Given the description of an element on the screen output the (x, y) to click on. 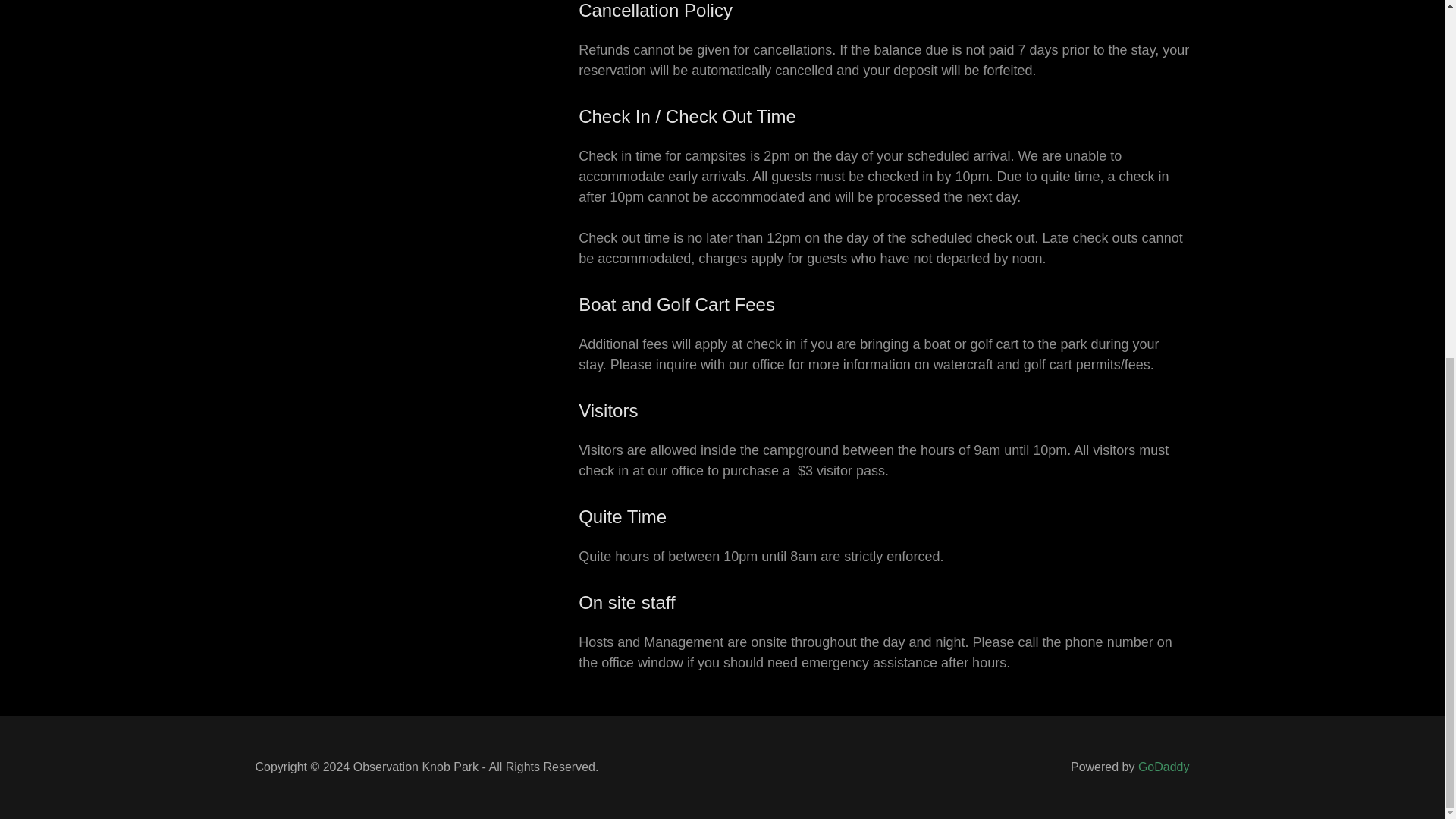
GoDaddy (1163, 766)
ACCEPT (1274, 512)
